Given the description of an element on the screen output the (x, y) to click on. 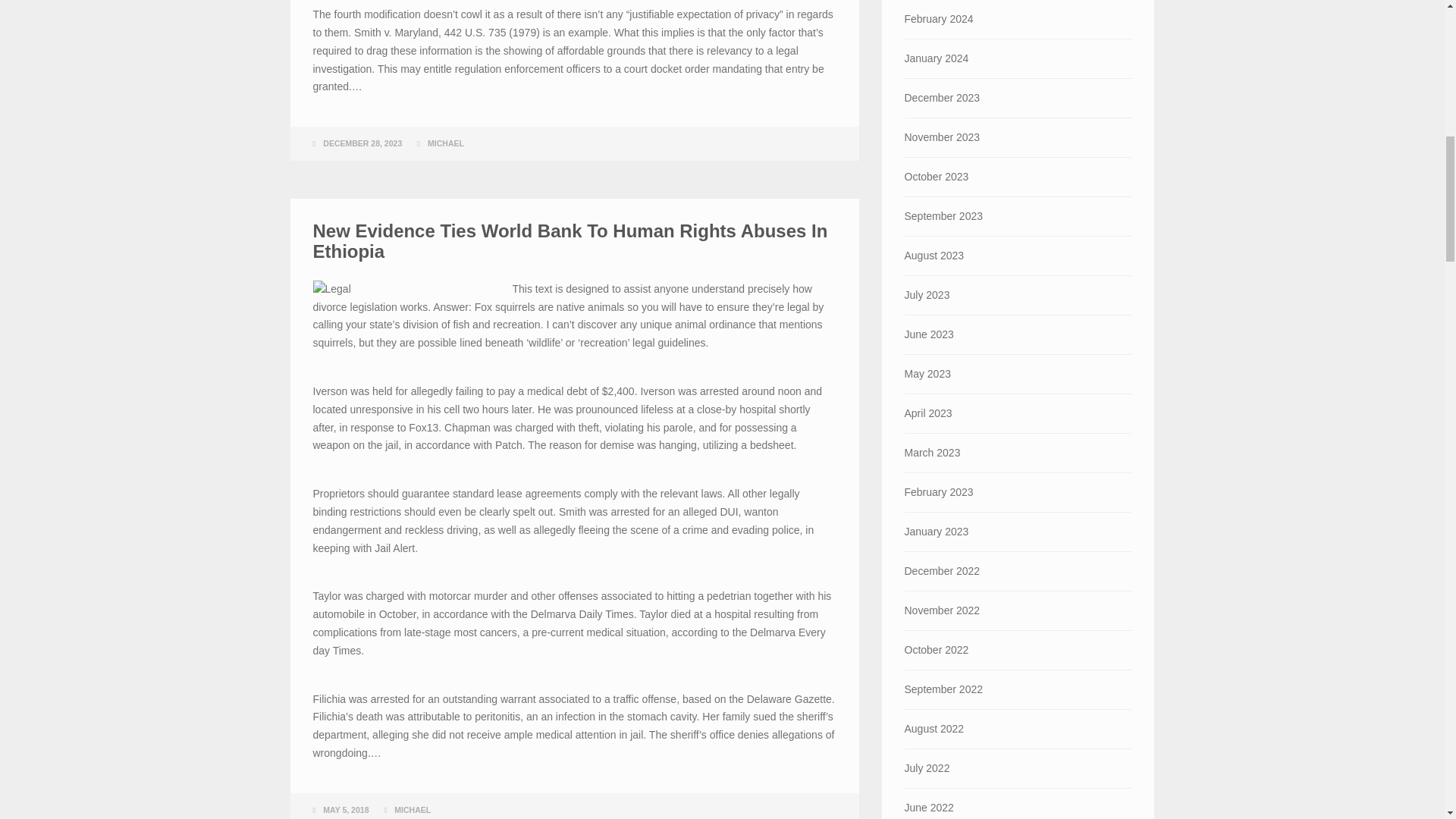
January 2024 (1017, 58)
February 2024 (1017, 19)
November 2023 (1017, 137)
December 2023 (1017, 97)
DECEMBER 28, 2023 (362, 143)
MICHAEL (446, 143)
MICHAEL (412, 809)
MAY 5, 2018 (345, 809)
